Given the description of an element on the screen output the (x, y) to click on. 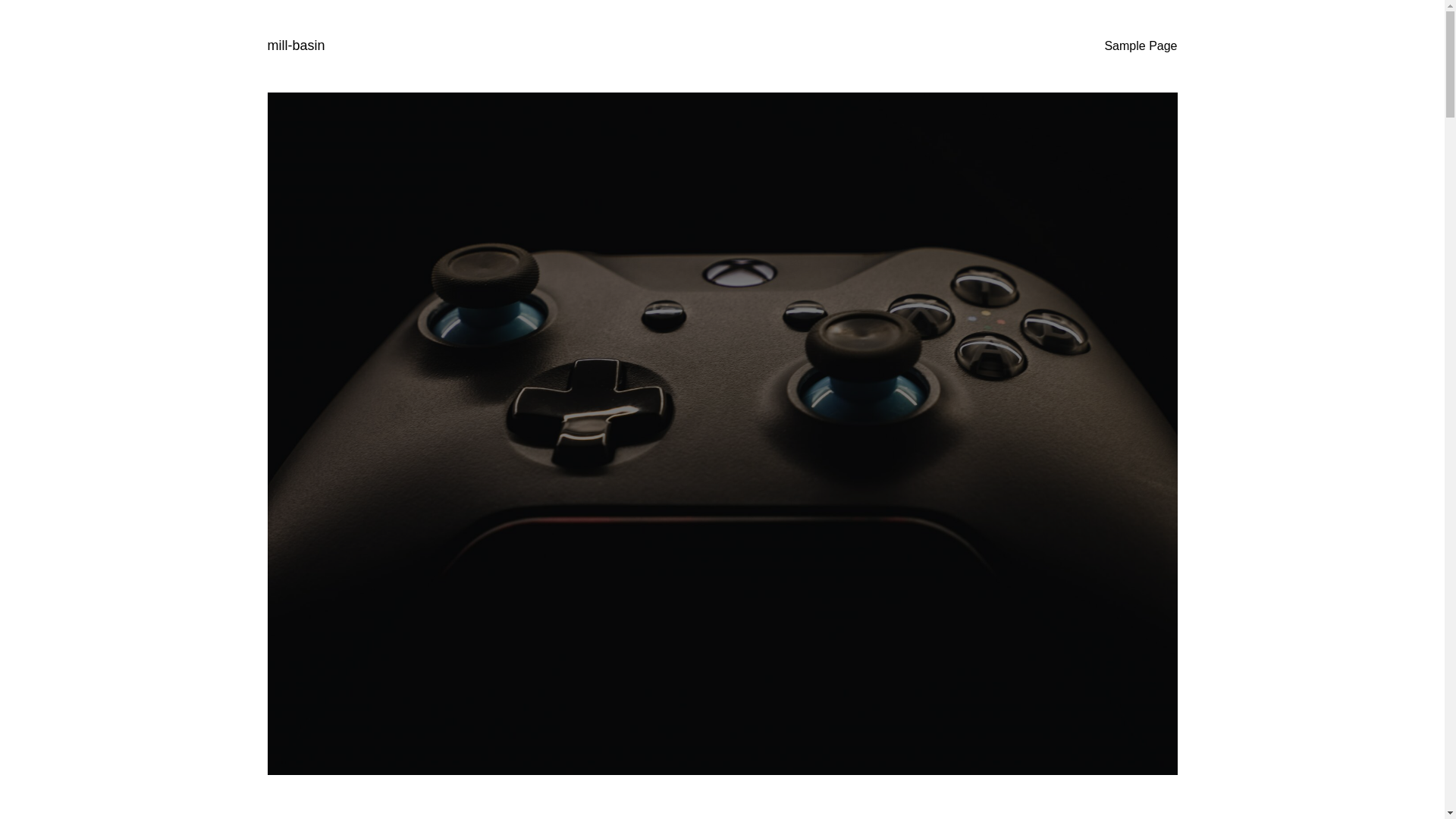
mill-basin (295, 45)
Sample Page (1139, 46)
